Given the description of an element on the screen output the (x, y) to click on. 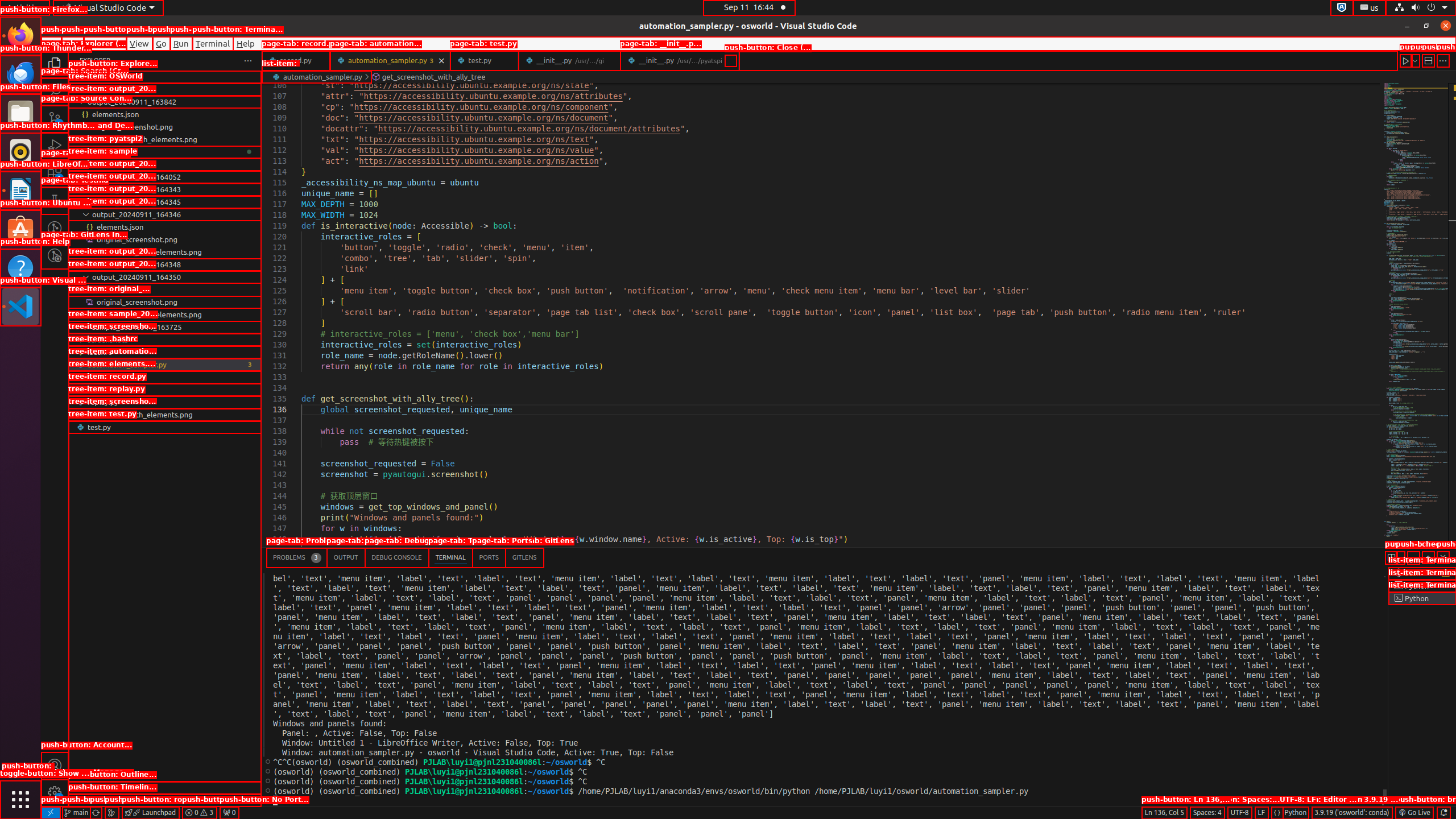
More Actions... Element type: push-button (1442, 60)
New Terminal (Ctrl+Shift+`) [Alt] Split Terminal (Ctrl+Shift+5) Element type: push-button (1390, 557)
sample Element type: tree-item (164, 164)
remote Element type: push-button (50, 812)
Problems (Ctrl+Shift+M) - Total 3 Problems Element type: page-tab (296, 557)
